Given the description of an element on the screen output the (x, y) to click on. 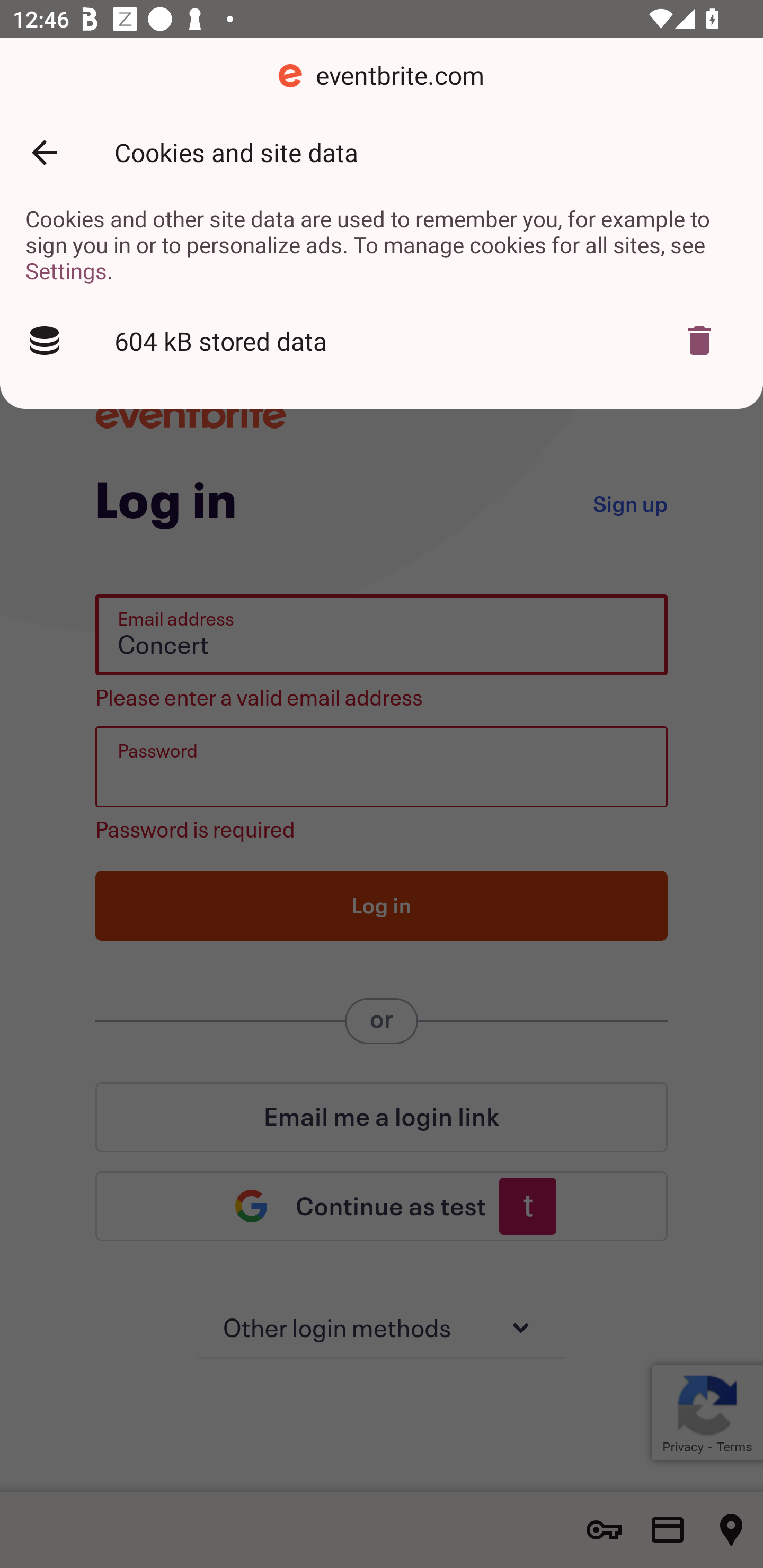
eventbrite.com (381, 75)
Back (44, 152)
604 kB stored data Delete cookies? (381, 340)
